Given the description of an element on the screen output the (x, y) to click on. 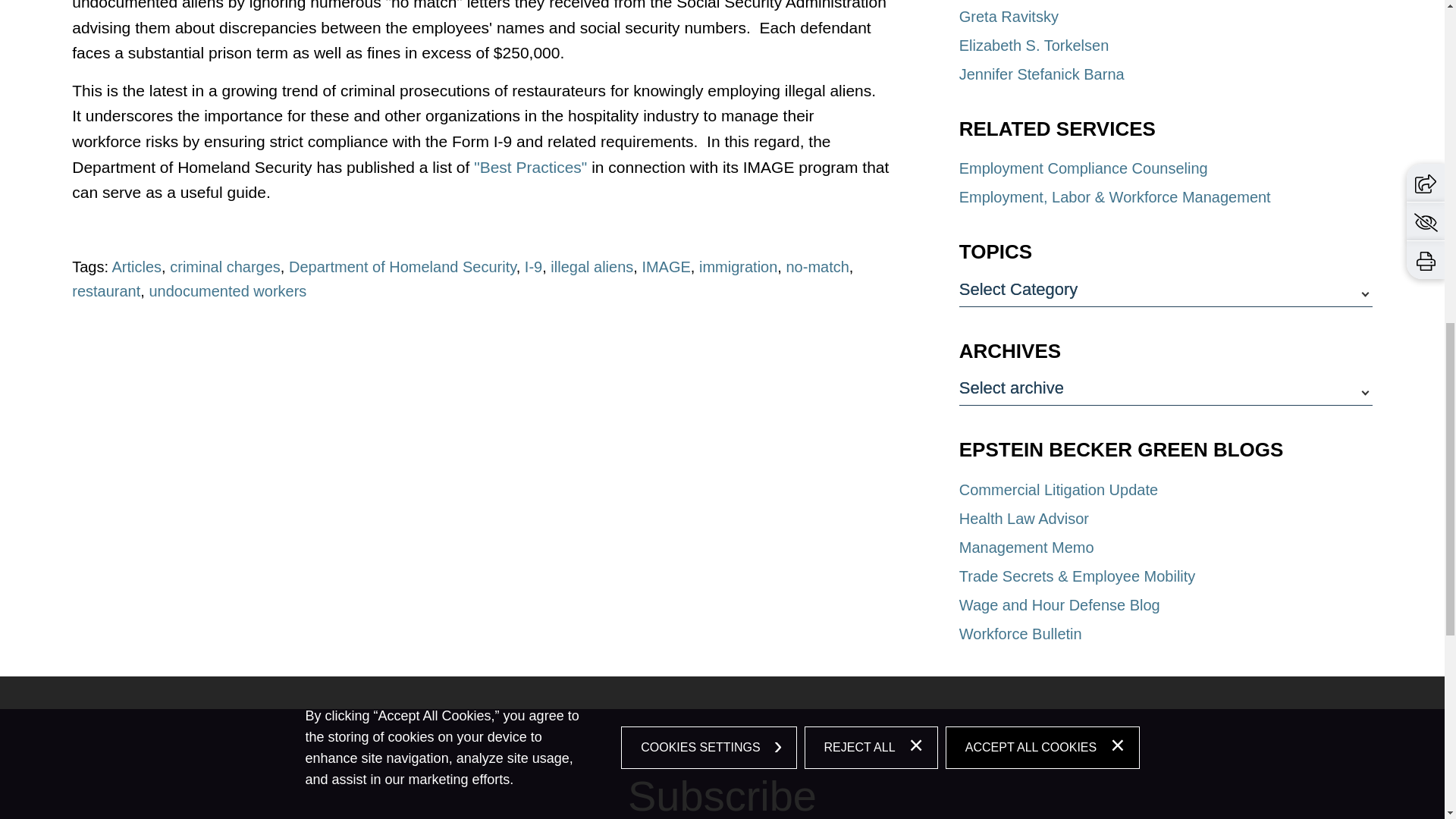
restaurant (105, 290)
Elizabeth S. Torkelsen (1034, 45)
Jennifer Stefanick Barna (1041, 74)
undocumented workers (226, 290)
Greta Ravitsky (1008, 16)
Department of Homeland Security (402, 266)
IMAGE (666, 266)
immigration (737, 266)
no-match (817, 266)
criminal charges (225, 266)
illegal aliens (591, 266)
Employment Compliance Counseling (1083, 167)
I-9 (532, 266)
"Best Practices" (530, 166)
Articles (136, 266)
